Given the description of an element on the screen output the (x, y) to click on. 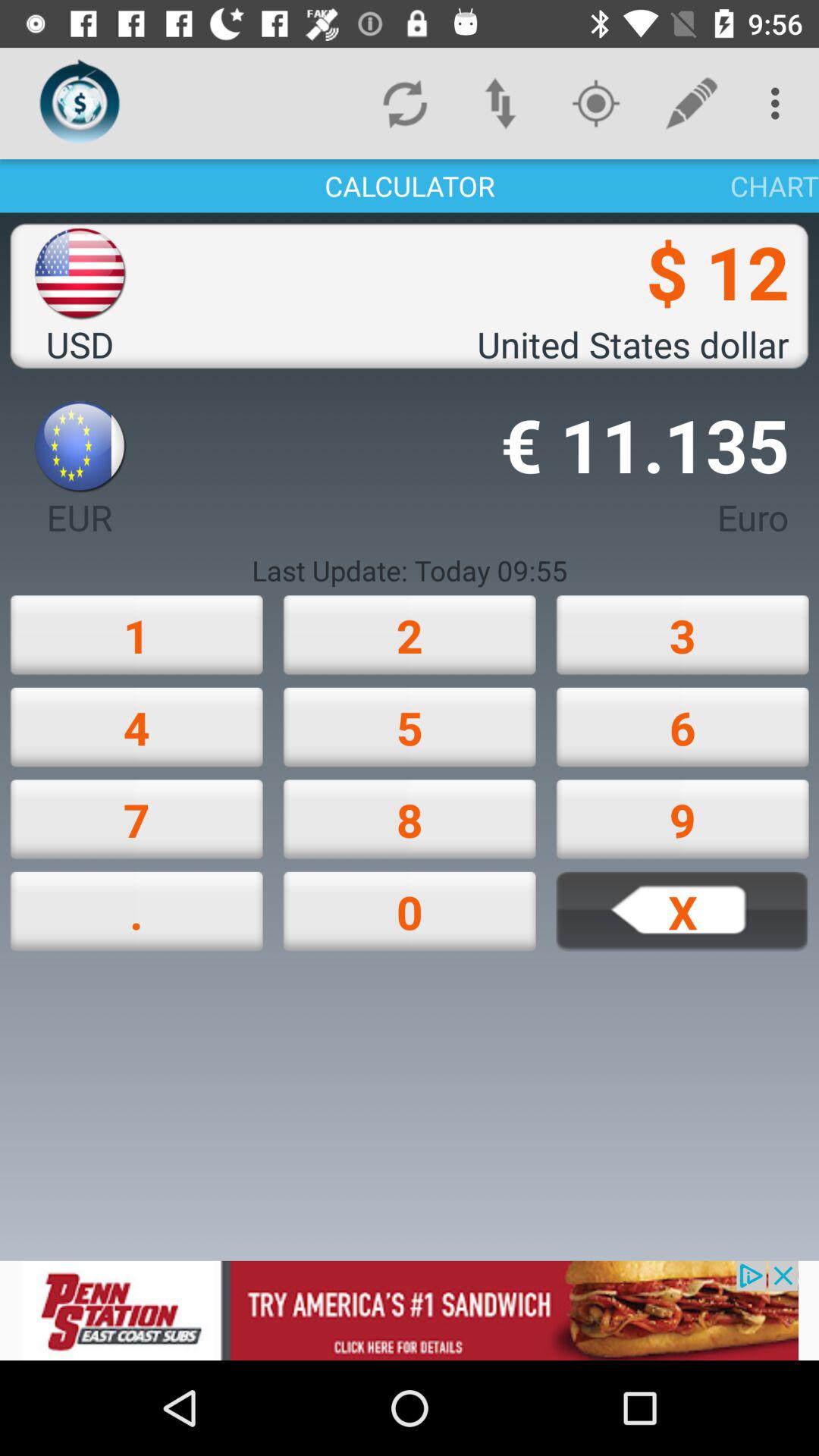
its an advertisement (409, 1310)
